Given the description of an element on the screen output the (x, y) to click on. 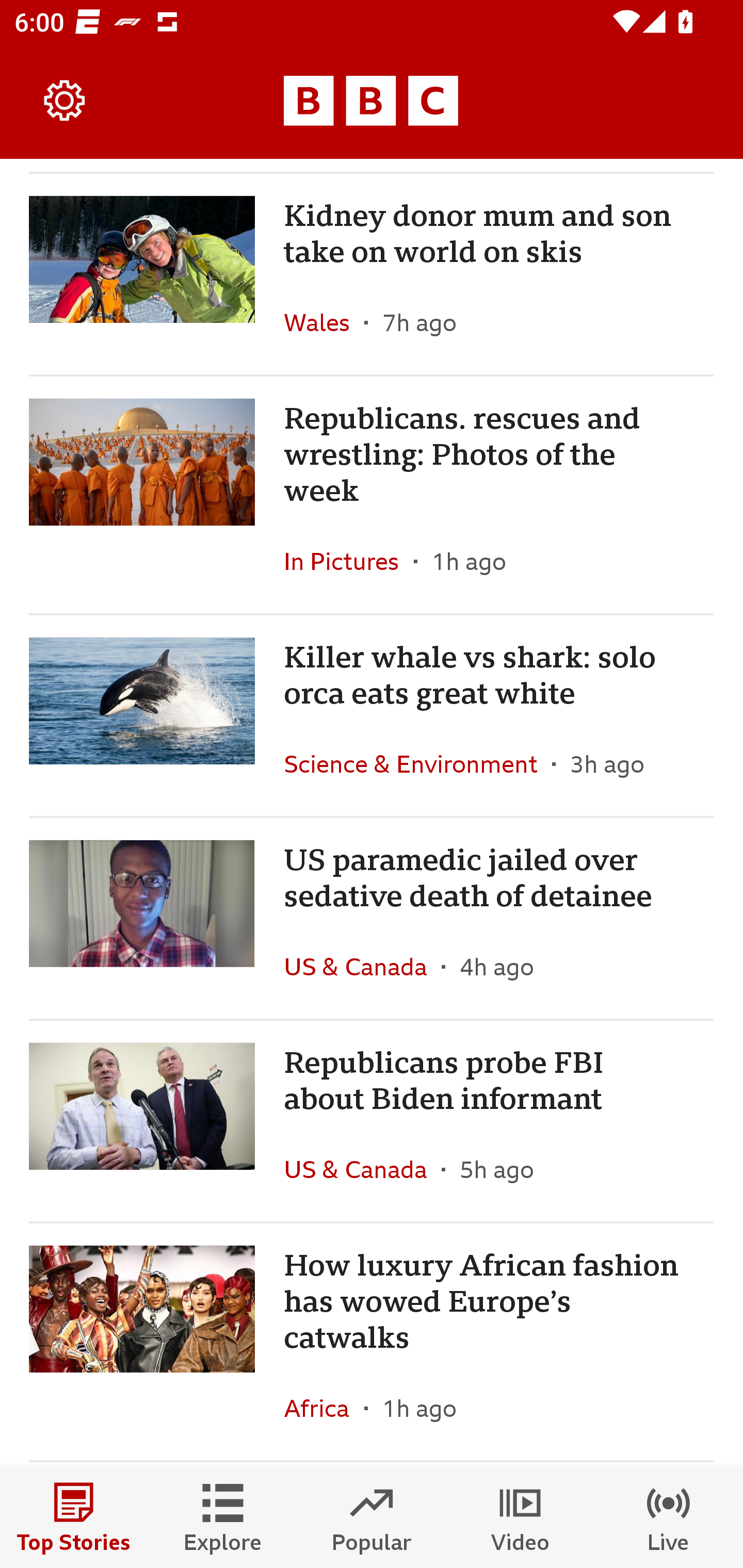
Settings (64, 100)
Wales In the section Wales (323, 321)
In Pictures In the section In Pictures (348, 561)
US & Canada In the section US & Canada (362, 966)
US & Canada In the section US & Canada (362, 1168)
Africa In the section Africa (323, 1407)
Explore (222, 1517)
Popular (371, 1517)
Video (519, 1517)
Live (668, 1517)
